Given the description of an element on the screen output the (x, y) to click on. 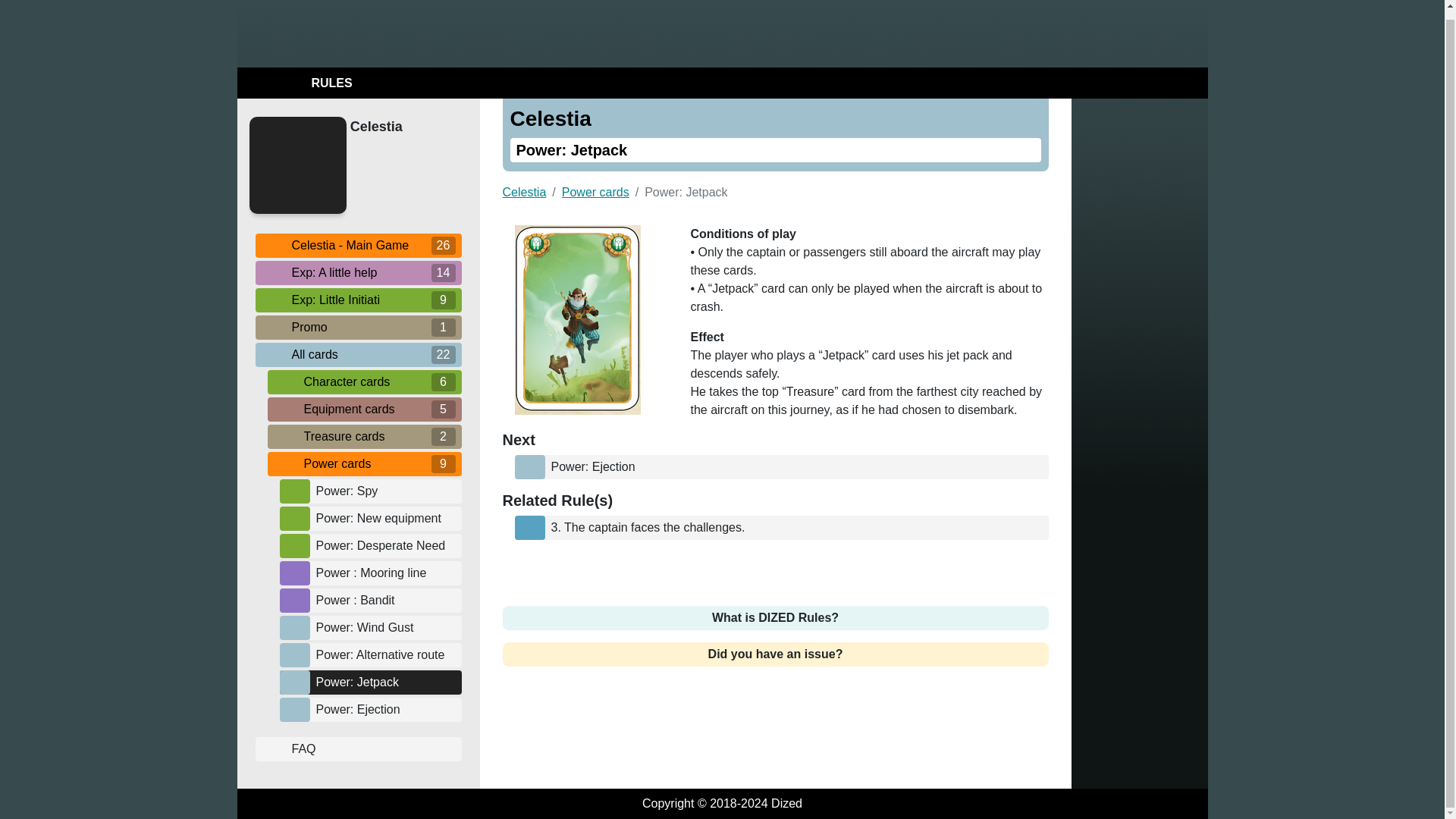
Exp: A little help (357, 272)
Celestia (401, 127)
Celestia - Main Game (357, 245)
  RULES (297, 82)
